Given the description of an element on the screen output the (x, y) to click on. 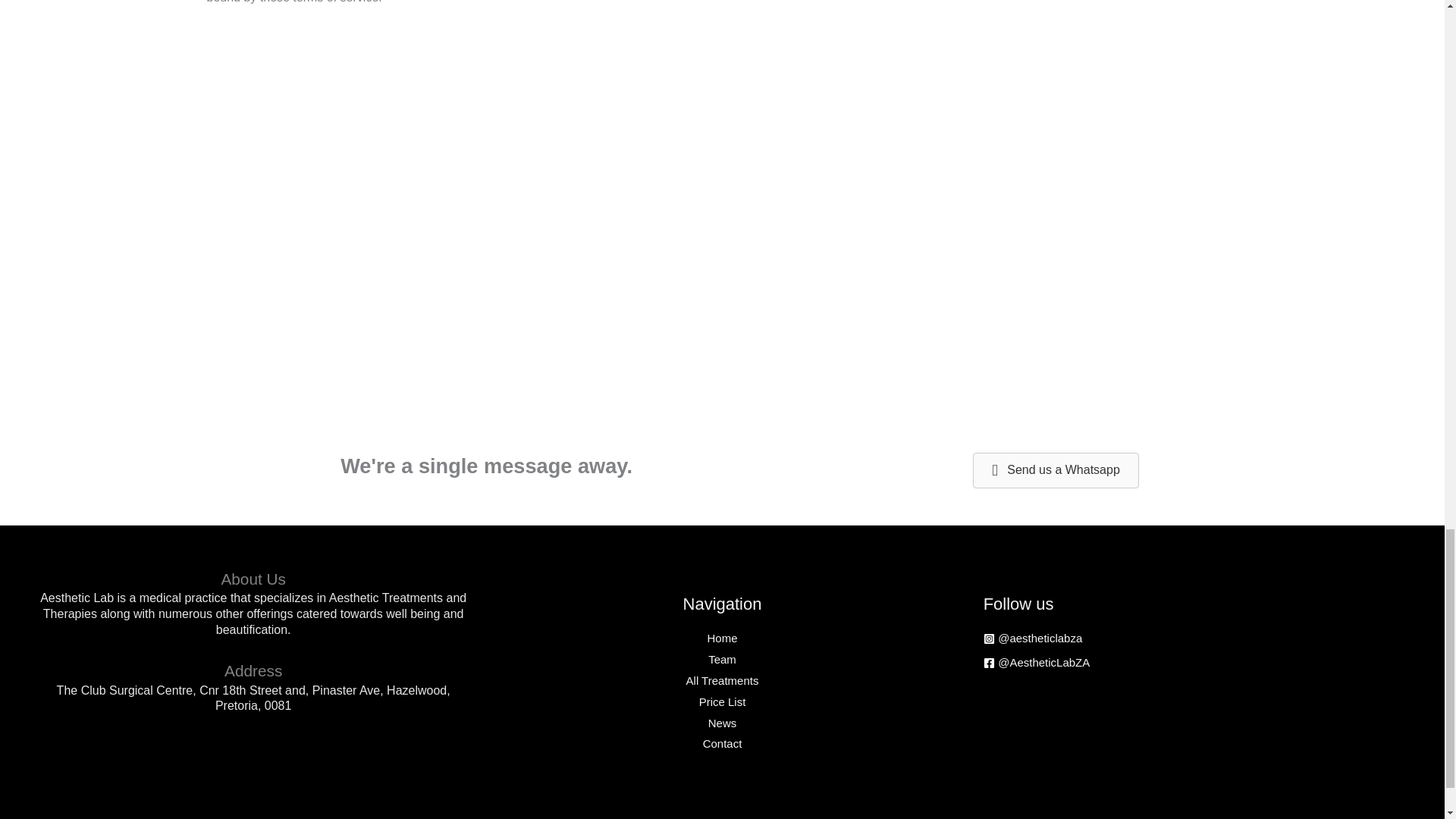
Price List (721, 701)
All Treatments (721, 680)
Contact (722, 743)
Send us a Whatsapp (1055, 470)
Team (721, 658)
News (721, 722)
Home (721, 637)
